Given the description of an element on the screen output the (x, y) to click on. 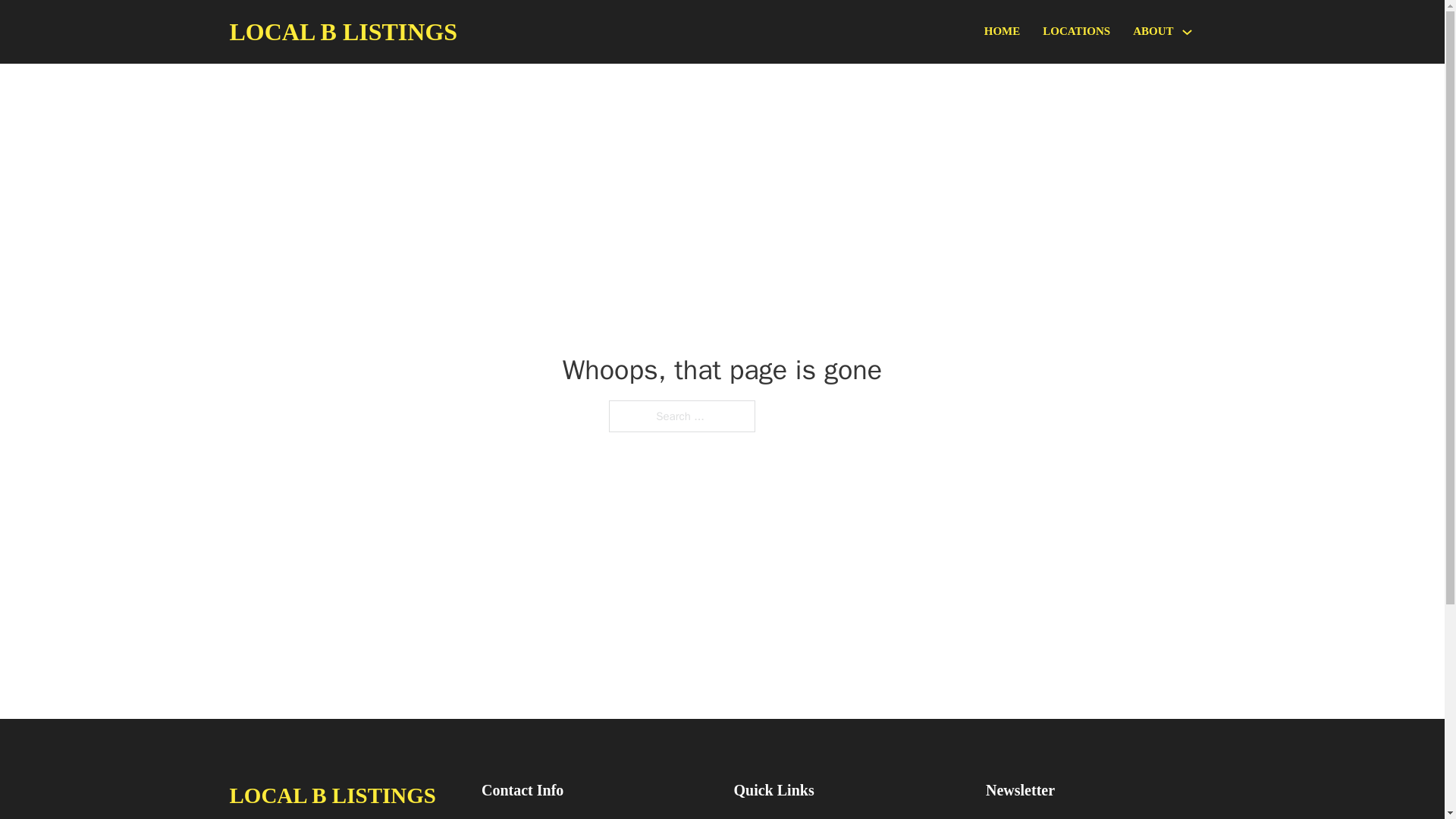
LOCAL B LISTINGS (342, 31)
LOCATIONS (1075, 31)
LOCAL B LISTINGS (331, 795)
HOME (1002, 31)
